Given the description of an element on the screen output the (x, y) to click on. 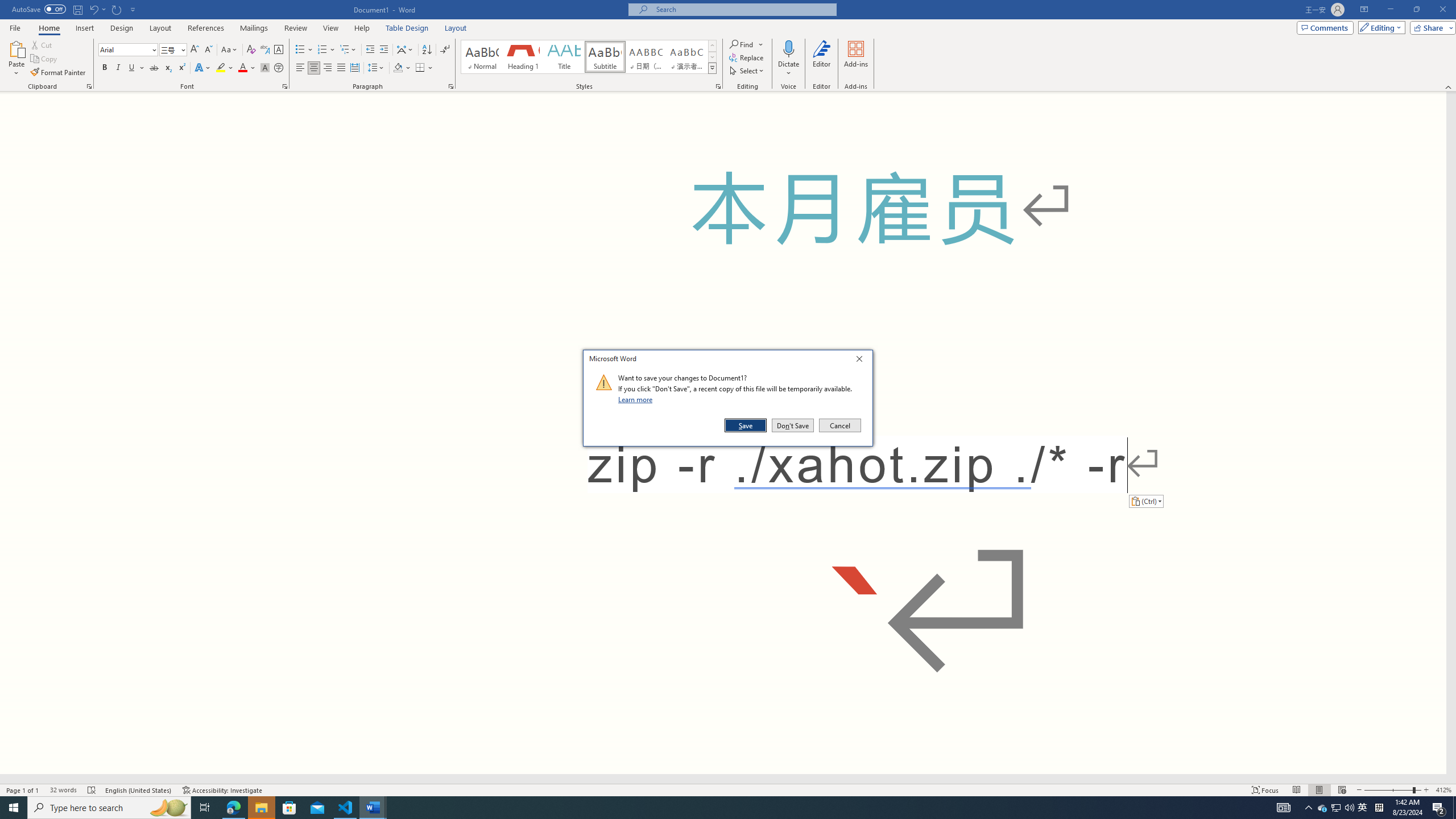
Change Case (229, 49)
Asian Layout (405, 49)
Design (122, 28)
Notification Chevron (1308, 807)
Quick Access Toolbar (74, 9)
Phonetic Guide... (264, 49)
Row Down (711, 56)
Class: NetUIScrollBar (722, 778)
User Promoted Notification Area (1336, 807)
Cut (42, 44)
Open (182, 49)
